Given the description of an element on the screen output the (x, y) to click on. 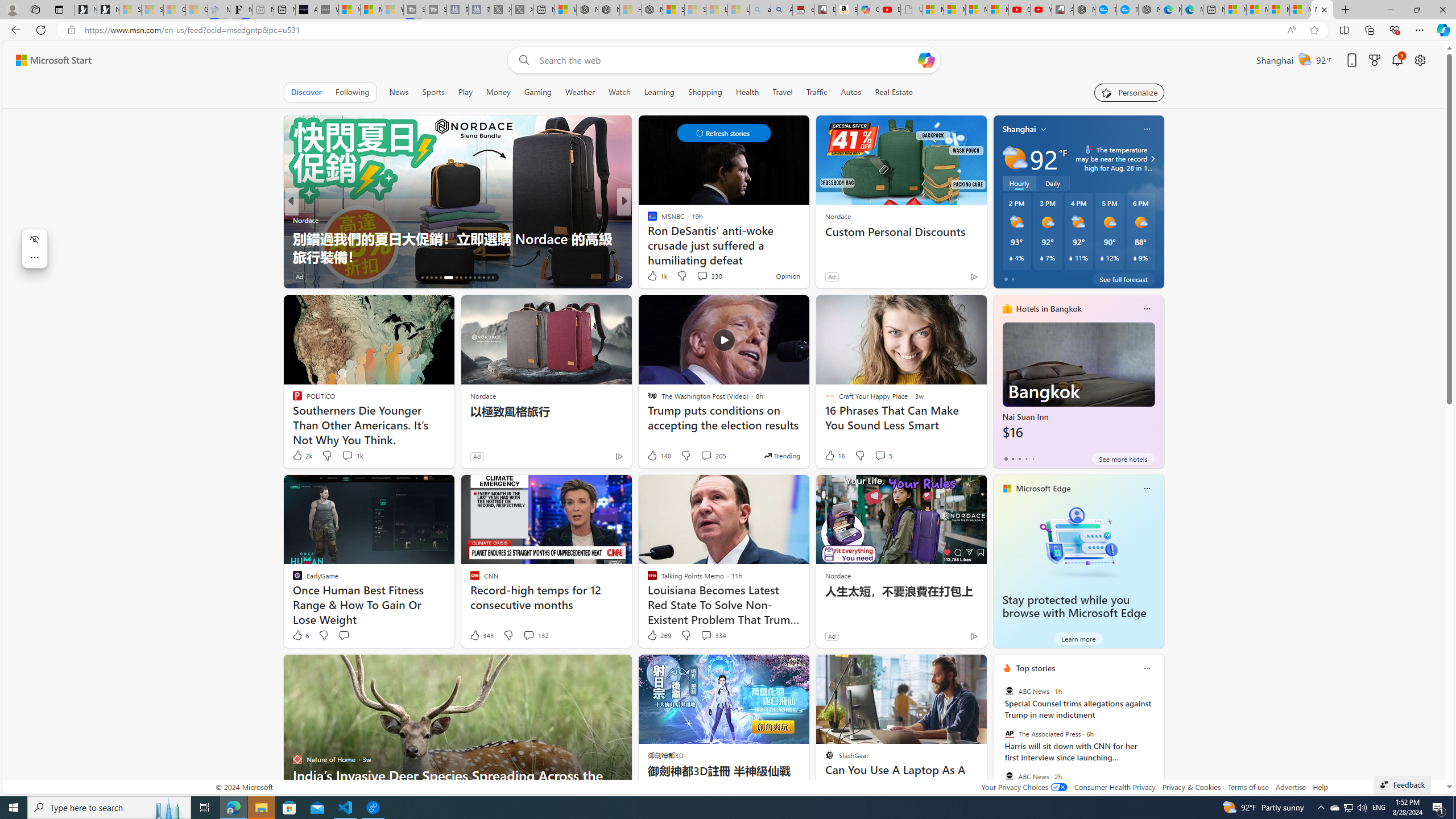
181 Like (654, 276)
Custom Personal Discounts (900, 232)
Help (1320, 786)
What's the best AI voice generator? - voice.ai - Sleeping (327, 9)
View comments 33 Comment (704, 276)
